Given the description of an element on the screen output the (x, y) to click on. 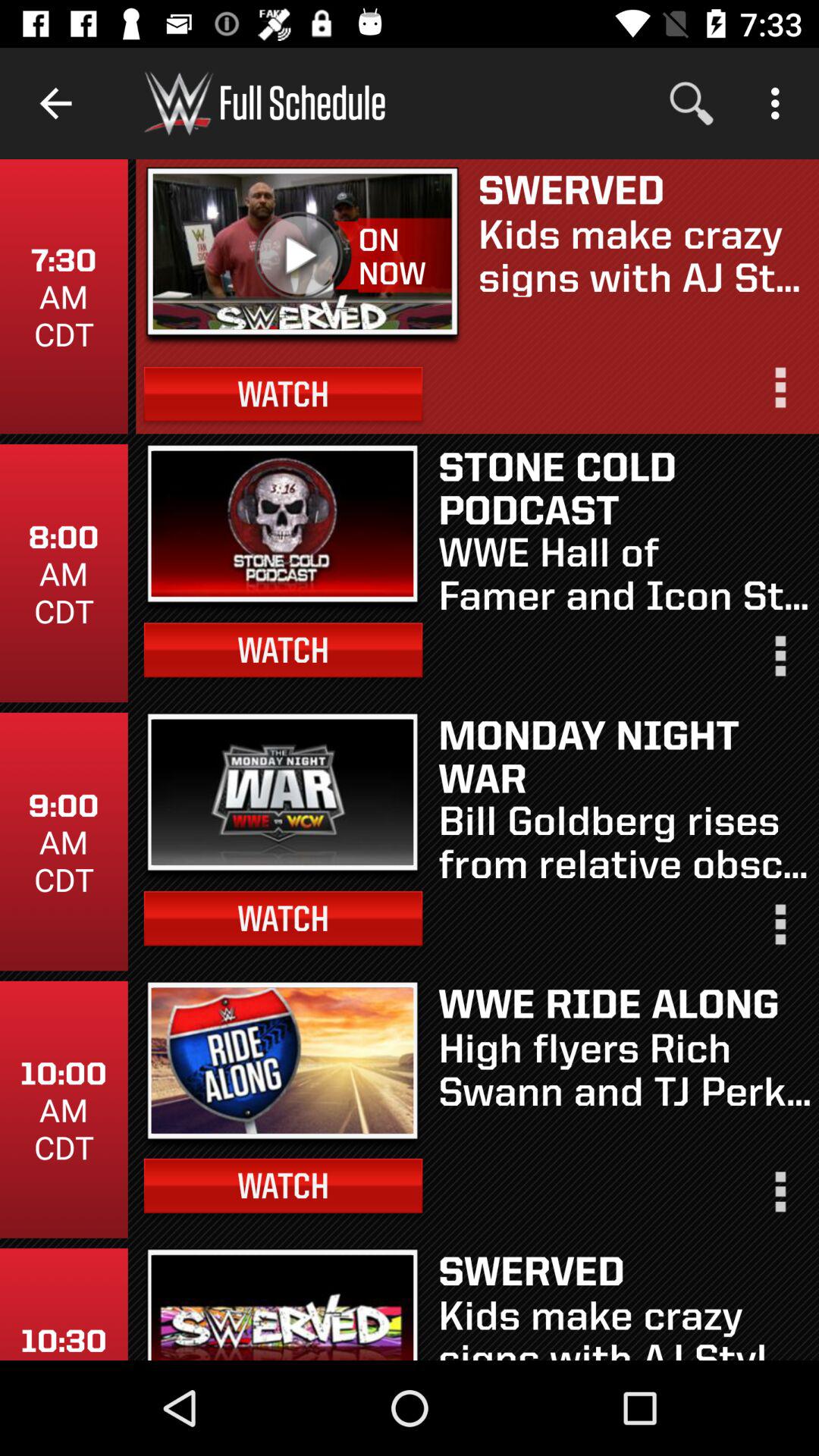
launch item above 7 30 am item (55, 103)
